Given the description of an element on the screen output the (x, y) to click on. 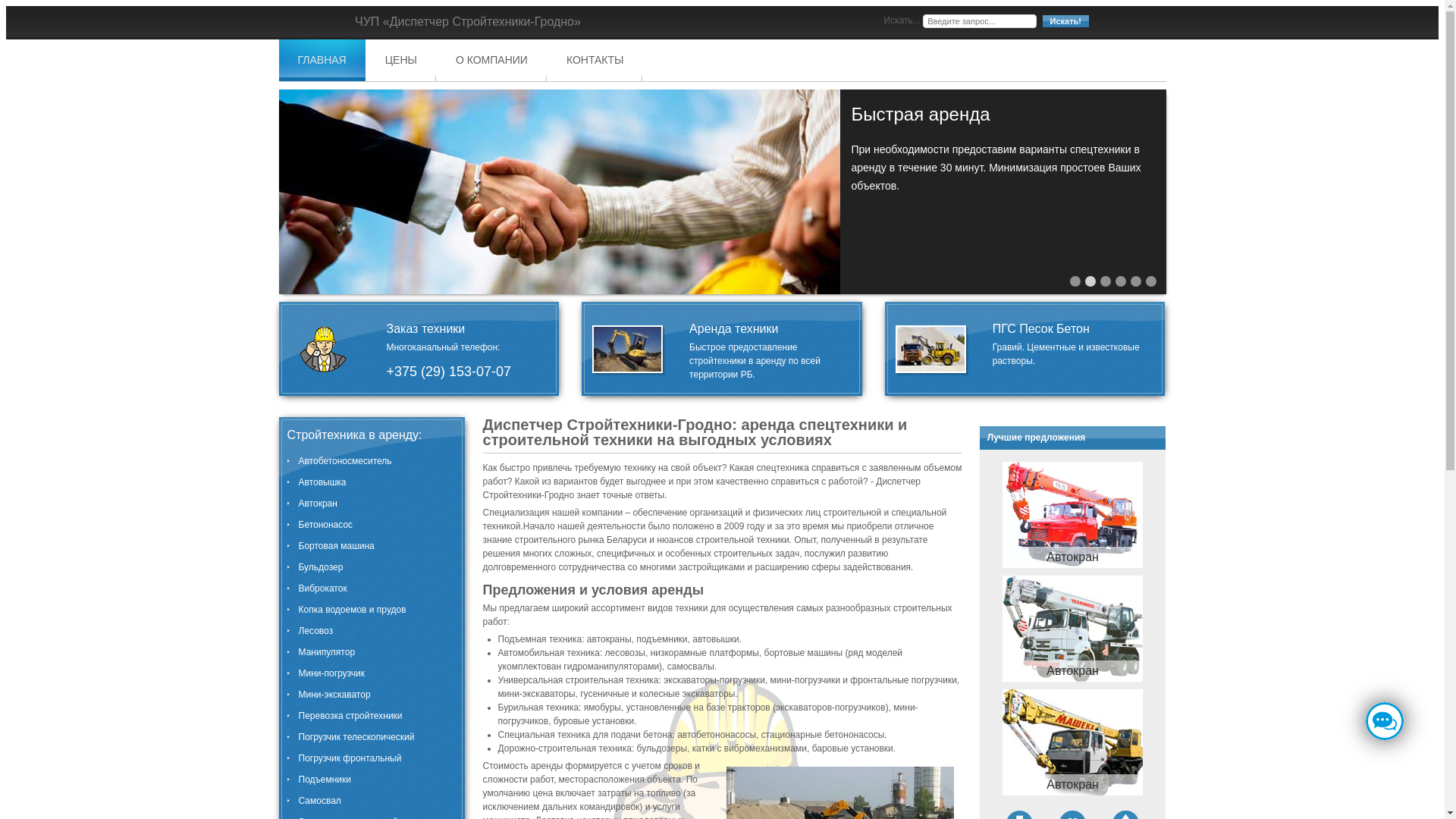
+375 (29) 153-07-07 Element type: text (448, 371)
